Given the description of an element on the screen output the (x, y) to click on. 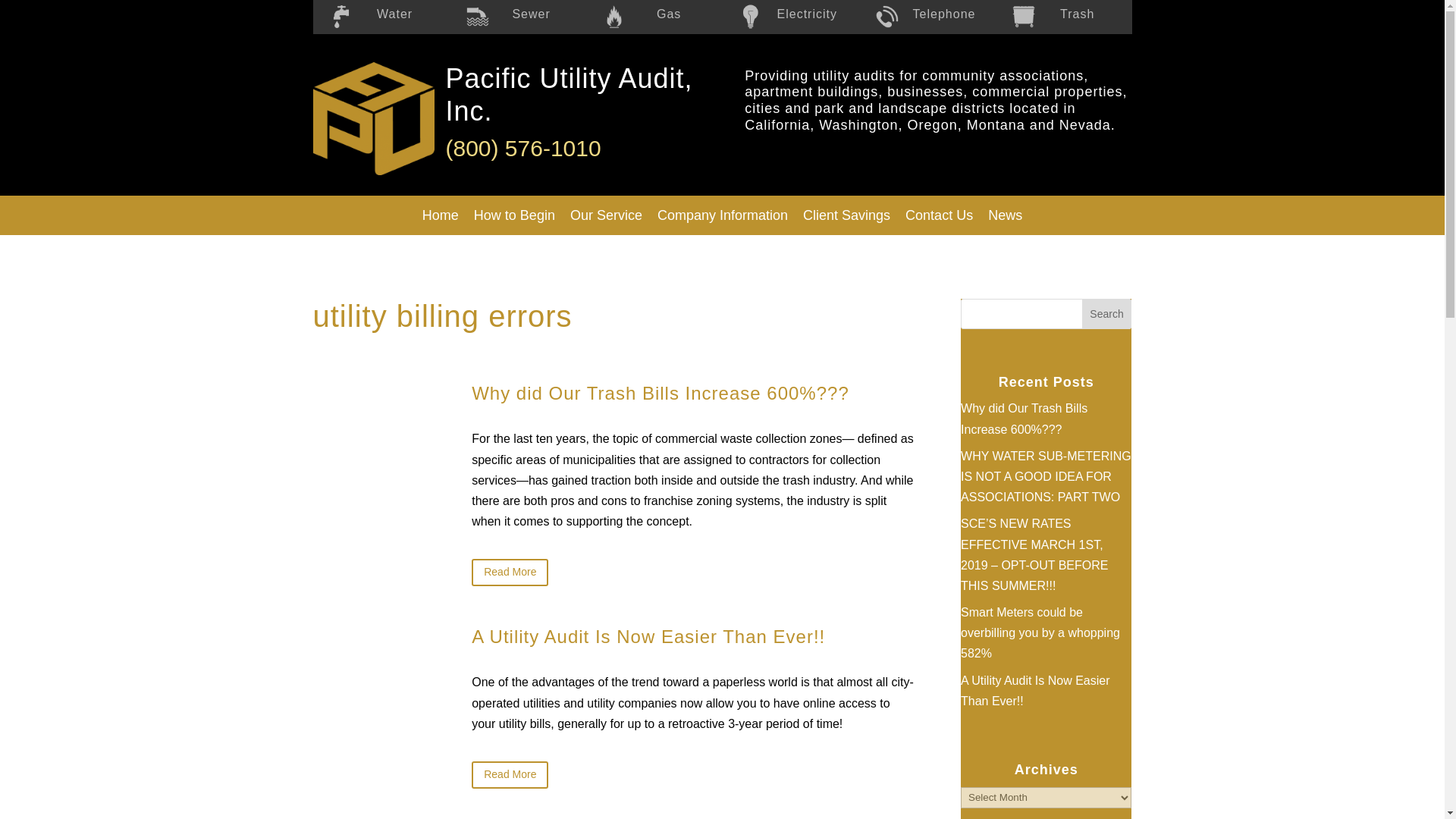
Company Information (721, 215)
How to Begin (513, 215)
Client Savings (846, 215)
News (1004, 215)
Our Service (605, 215)
Pacific Utility Audit, Inc. (569, 94)
Contact Us (938, 215)
Search (1106, 313)
Home (439, 215)
